Given the description of an element on the screen output the (x, y) to click on. 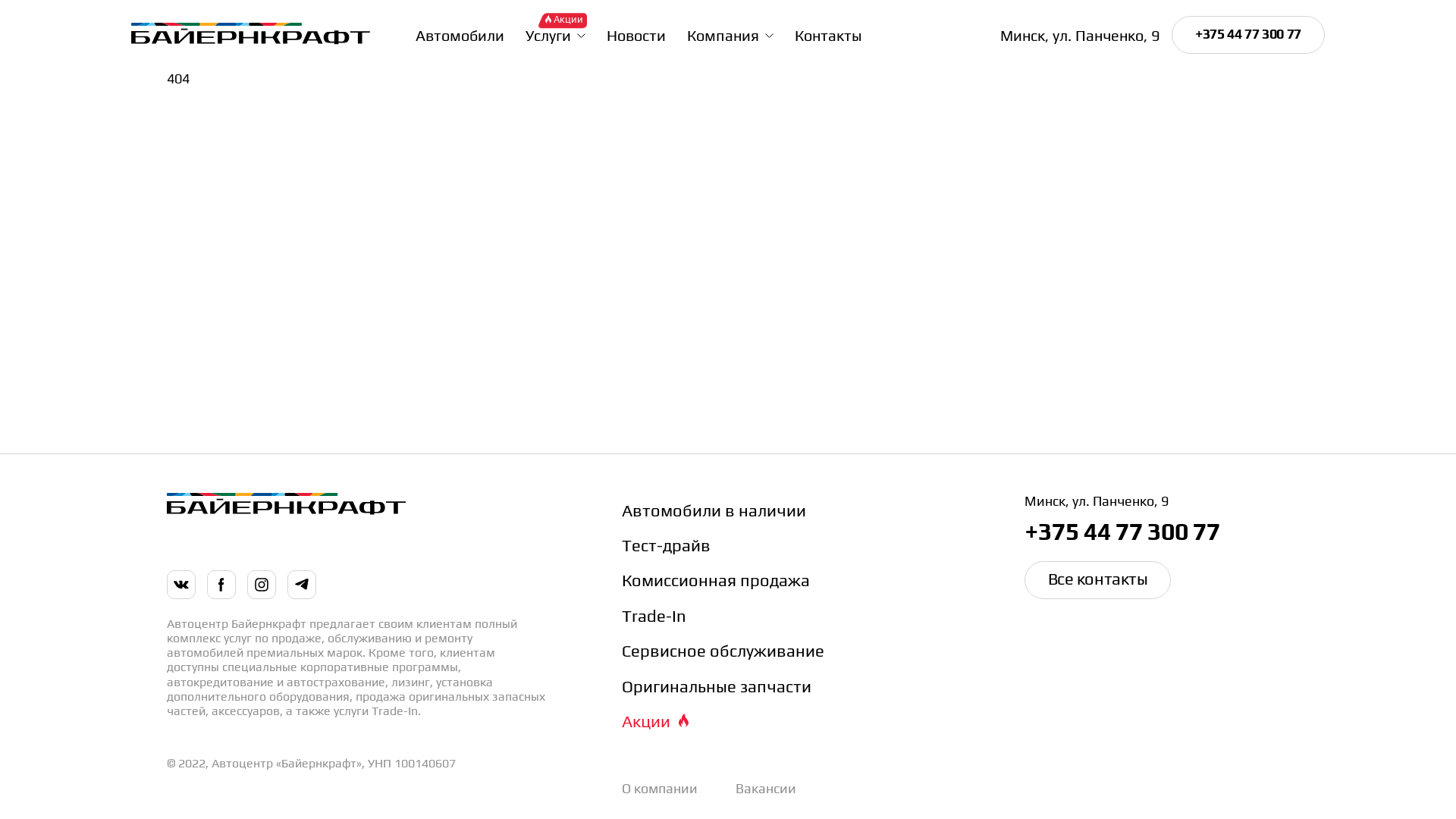
Trade-In Element type: text (784, 614)
+375 44 77 300 77 Element type: text (1156, 530)
+375 44 77 300 77 Element type: text (1247, 34)
